Given the description of an element on the screen output the (x, y) to click on. 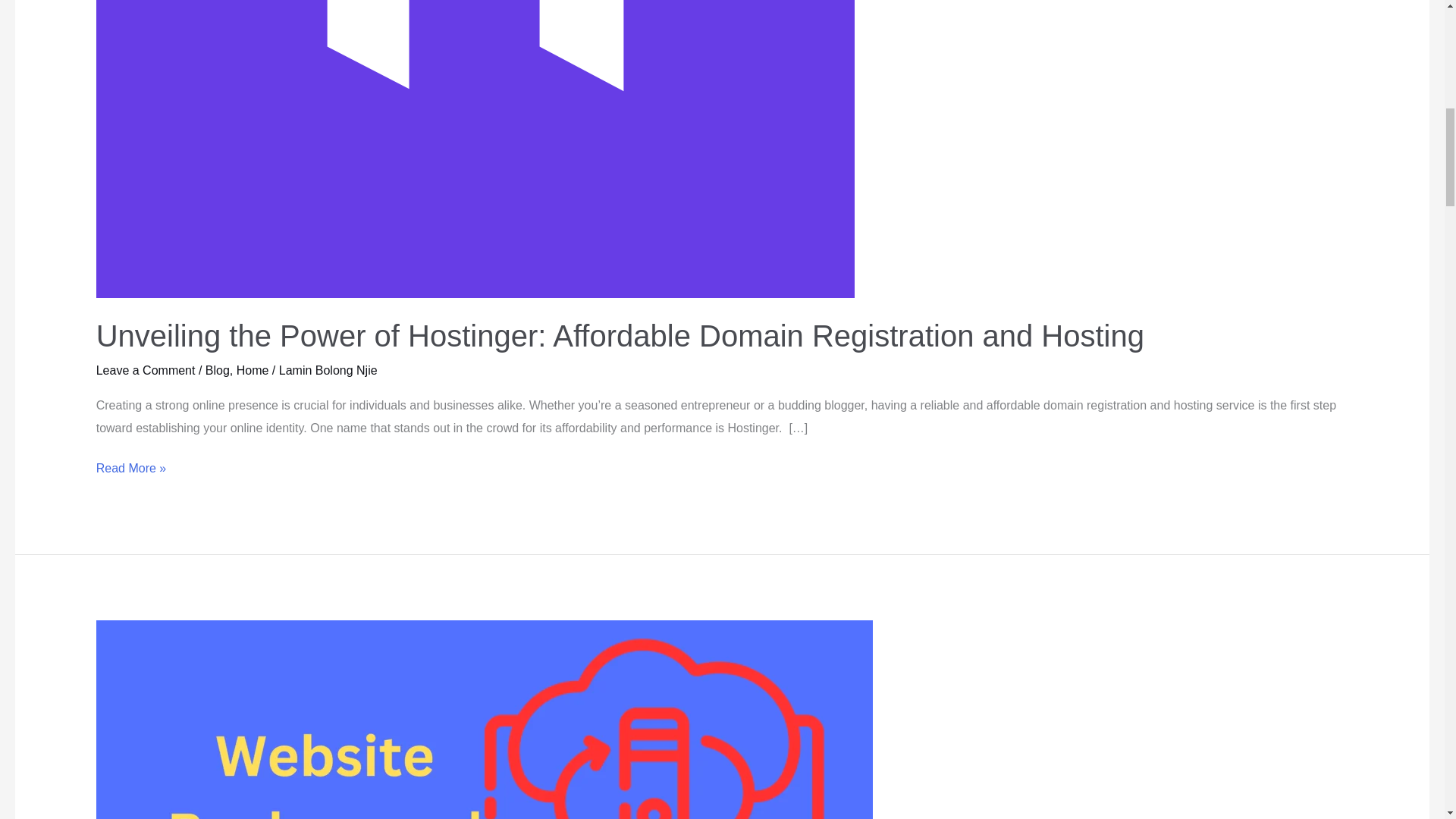
Blog (217, 369)
Lamin Bolong Njie (328, 369)
View all posts by Lamin Bolong Njie (328, 369)
Leave a Comment (145, 369)
Home (252, 369)
